Given the description of an element on the screen output the (x, y) to click on. 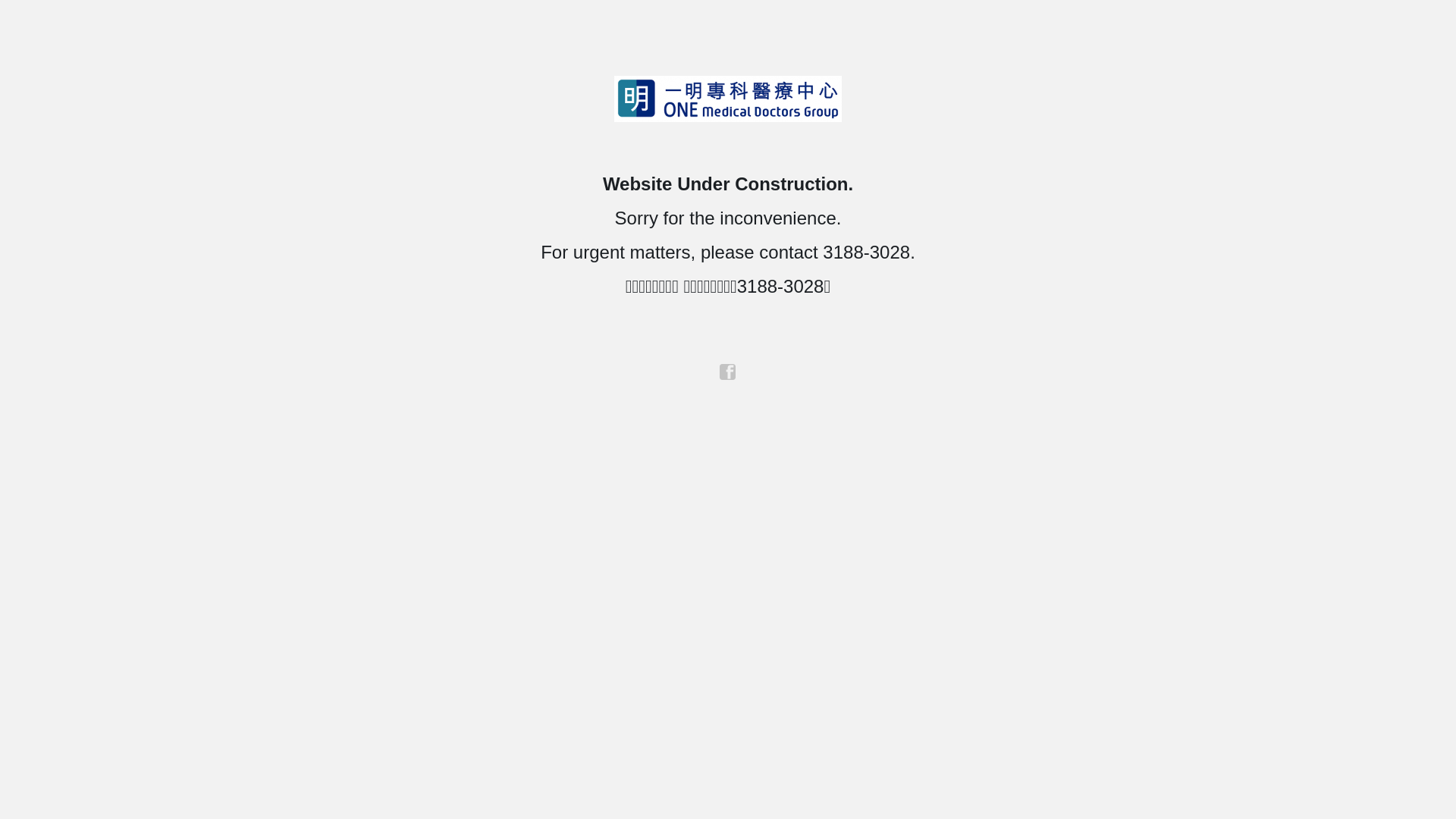
facebook Element type: text (727, 372)
